Given the description of an element on the screen output the (x, y) to click on. 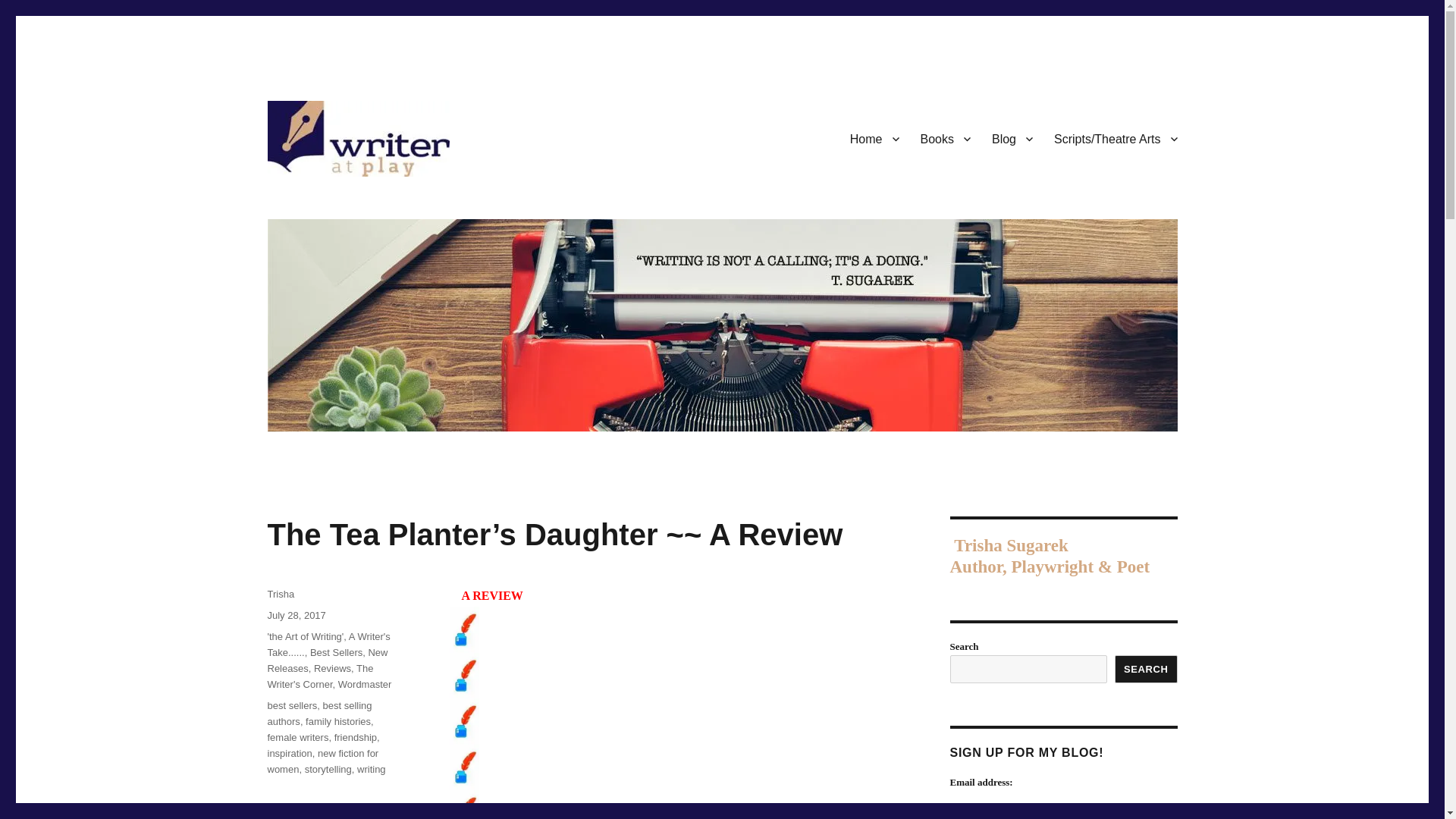
Books (945, 138)
Home (875, 138)
Blog (1012, 138)
